Given the description of an element on the screen output the (x, y) to click on. 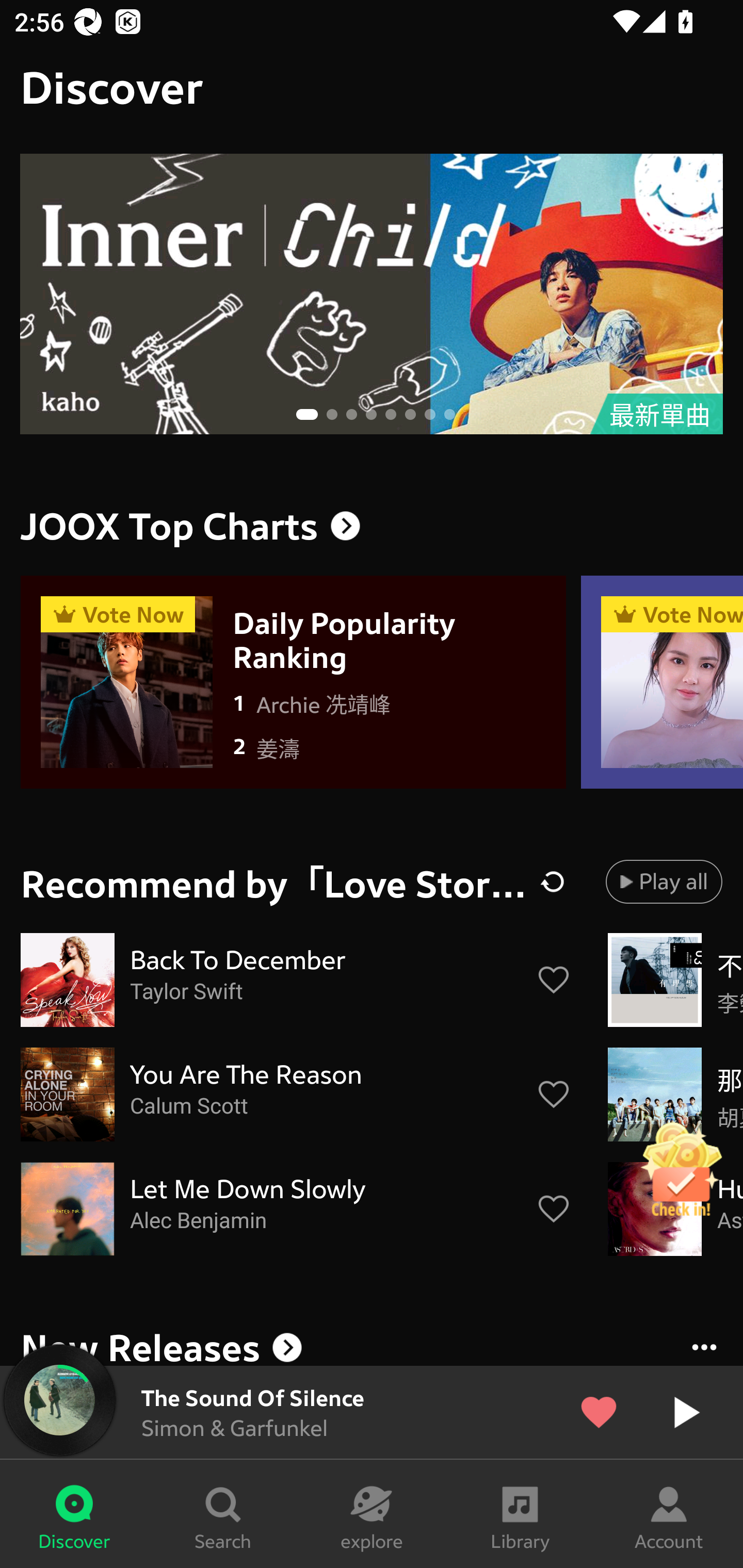
最新單曲   (371, 293)
JOOX Top Charts (371, 525)
Play all (663, 881)
Back To December Taylor Swift (295, 979)
You Are The Reason Calum Scott (295, 1094)
Let Me Down Slowly Alec Benjamin (295, 1208)
New Releases (371, 1344)
The Sound Of Silence Simon & Garfunkel (371, 1412)
Search (222, 1513)
explore (371, 1513)
Library (519, 1513)
Account (668, 1513)
